Given the description of an element on the screen output the (x, y) to click on. 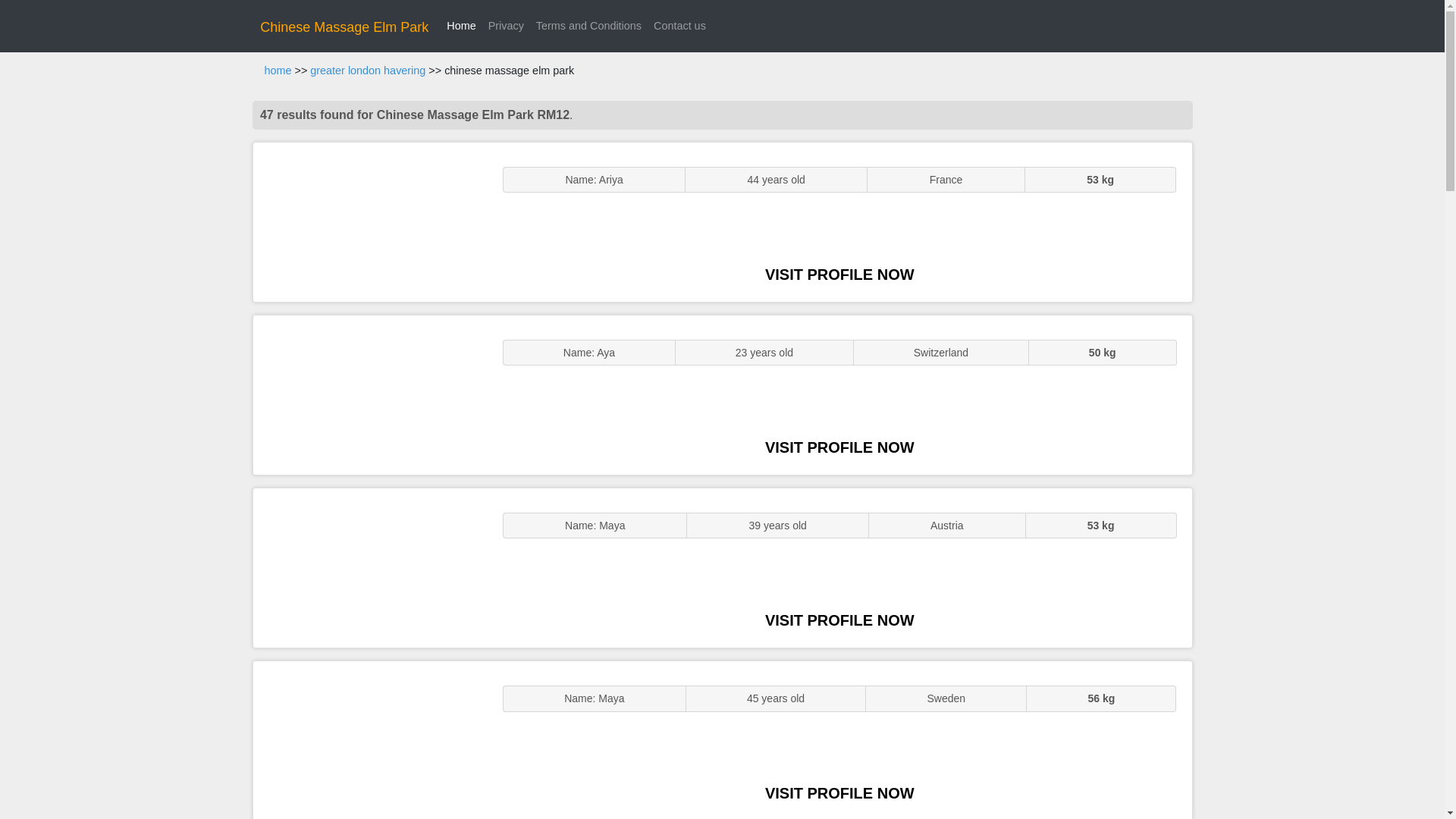
VISIT PROFILE NOW (839, 446)
Terms and Conditions (588, 25)
Sluts (370, 739)
VISIT PROFILE NOW (839, 619)
greater london havering (367, 70)
 ENGLISH STUNNER (370, 222)
GFE (370, 395)
Chinese Massage Elm Park (344, 27)
Contact us (679, 25)
Sexy (370, 567)
VISIT PROFILE NOW (839, 274)
VISIT PROFILE NOW (839, 792)
Privacy (505, 25)
home (277, 70)
